Given the description of an element on the screen output the (x, y) to click on. 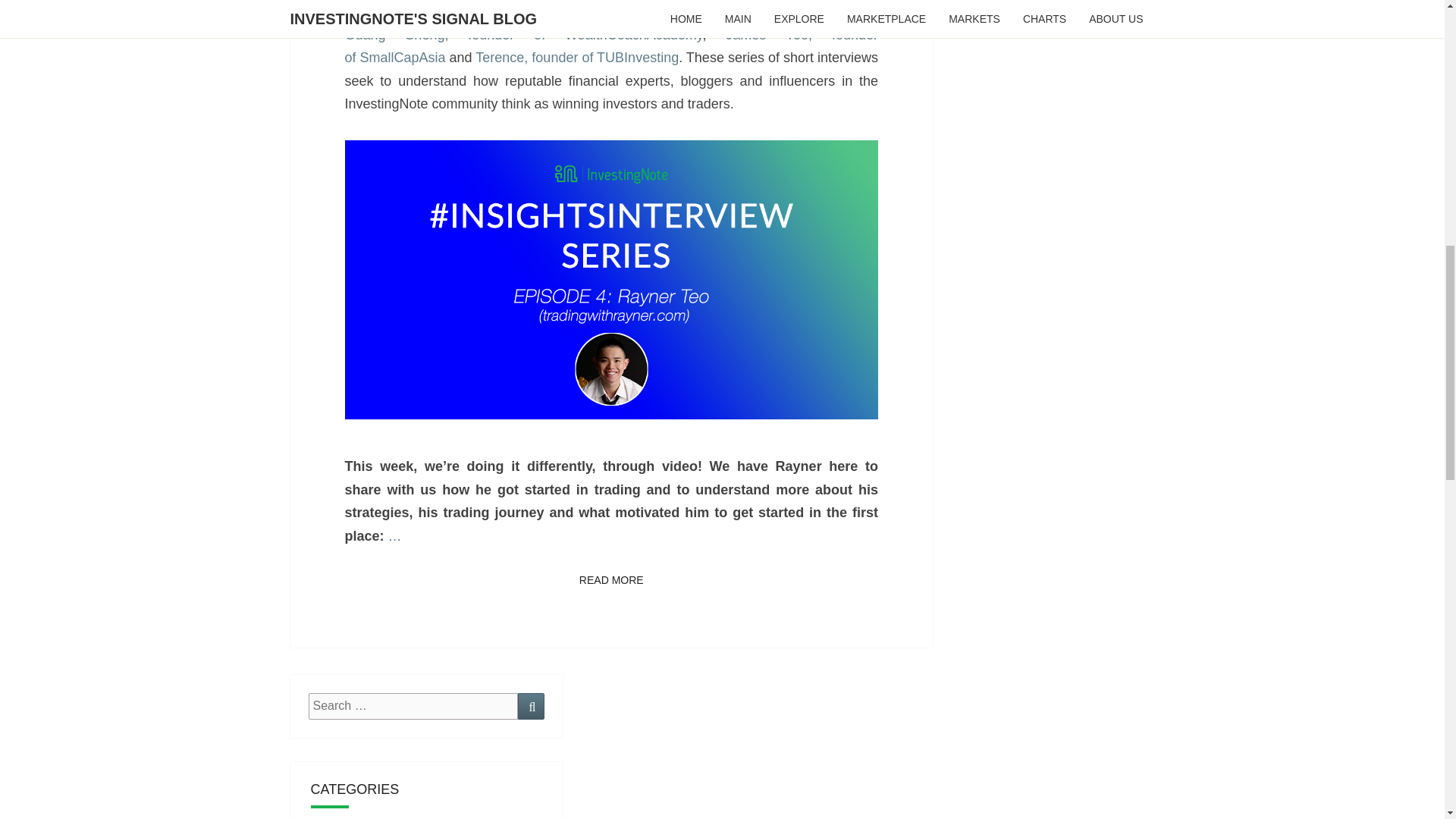
Terence, founder of TUBInvesting (577, 57)
Search for: (412, 705)
James Yeo, founder of SmallCapAsia (610, 46)
Search (531, 705)
Li Guang Sheng, founder of WealthCoachAcademy (610, 23)
